Given the description of an element on the screen output the (x, y) to click on. 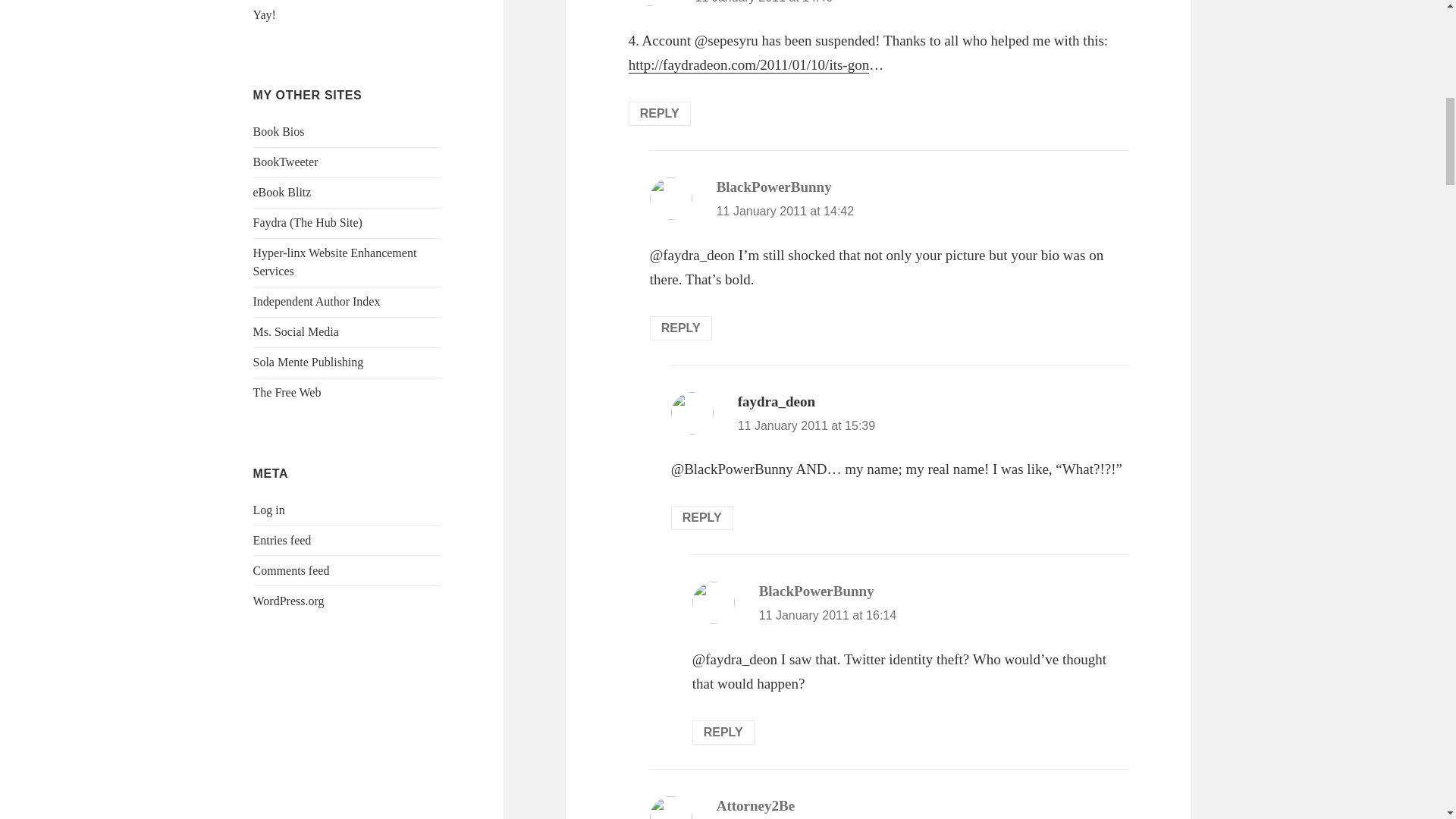
BookTweeter (285, 161)
Sola Mente Publishing (308, 361)
Log in (269, 509)
Independent Author Index (316, 300)
Entries feed (282, 540)
Hyper-linx Website Enhancement Services (334, 261)
Ms. Social Media (296, 331)
WordPress.org (288, 600)
Comments feed (291, 570)
Book Bios (278, 131)
The Free Web (287, 391)
11 January 2011 at 14:40 (763, 2)
eBook Blitz (282, 192)
Yay! (264, 14)
